Given the description of an element on the screen output the (x, y) to click on. 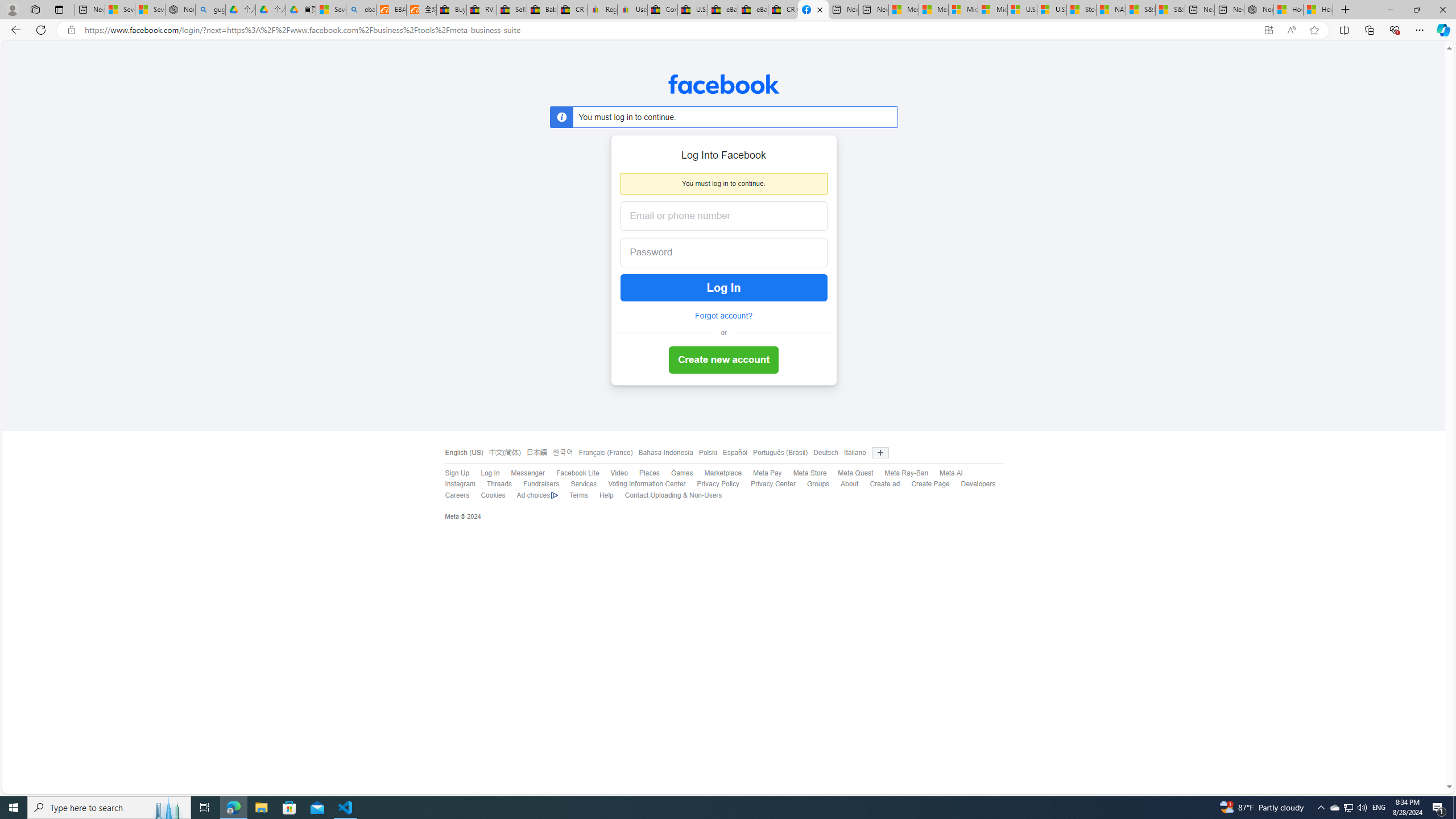
Create new account (723, 360)
Sign Up (451, 473)
Places (643, 473)
Fundraisers (540, 483)
Create Page (930, 483)
Threads (493, 484)
Privacy Center (766, 484)
Places (649, 473)
eBay Inc. Reports Third Quarter 2023 Results (753, 9)
Careers (457, 494)
